Given the description of an element on the screen output the (x, y) to click on. 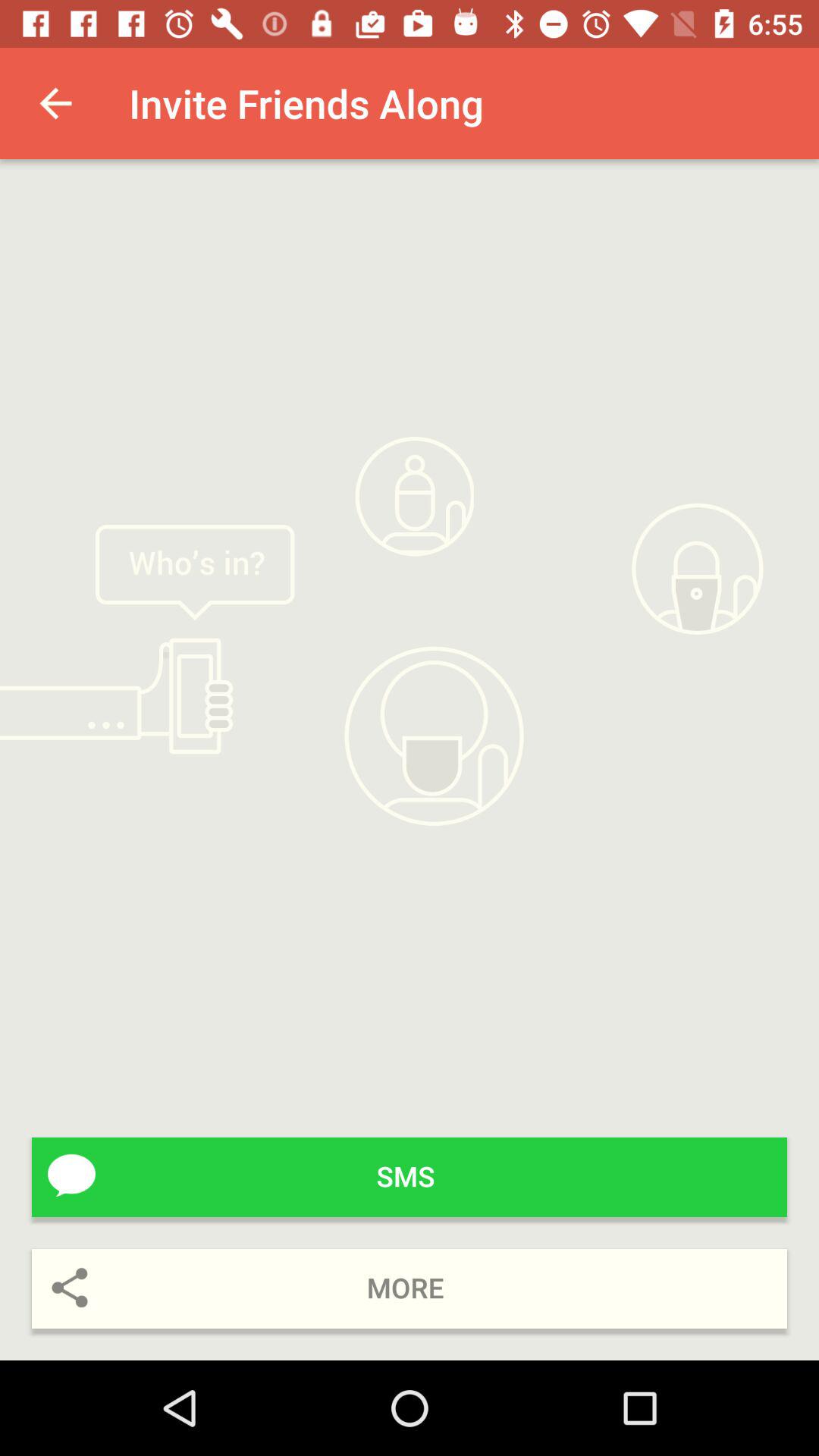
launch the icon at the top left corner (55, 103)
